Given the description of an element on the screen output the (x, y) to click on. 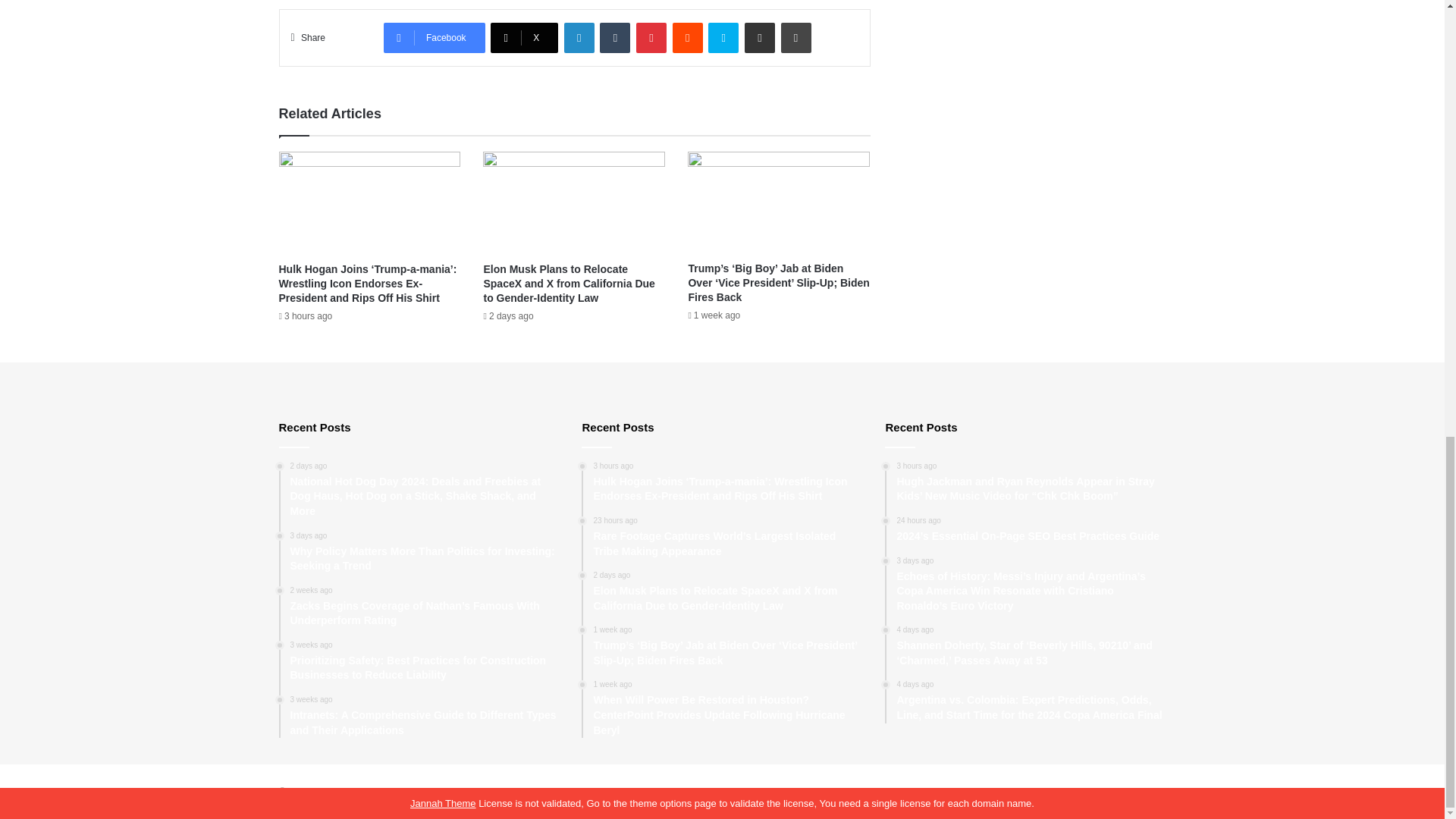
Facebook (434, 37)
Print (795, 37)
Skype (722, 37)
Skype (722, 37)
Tumblr (614, 37)
Tumblr (614, 37)
LinkedIn (579, 37)
X (523, 37)
Facebook (434, 37)
Share via Email (759, 37)
Reddit (687, 37)
LinkedIn (579, 37)
Reddit (687, 37)
Pinterest (651, 37)
X (523, 37)
